Given the description of an element on the screen output the (x, y) to click on. 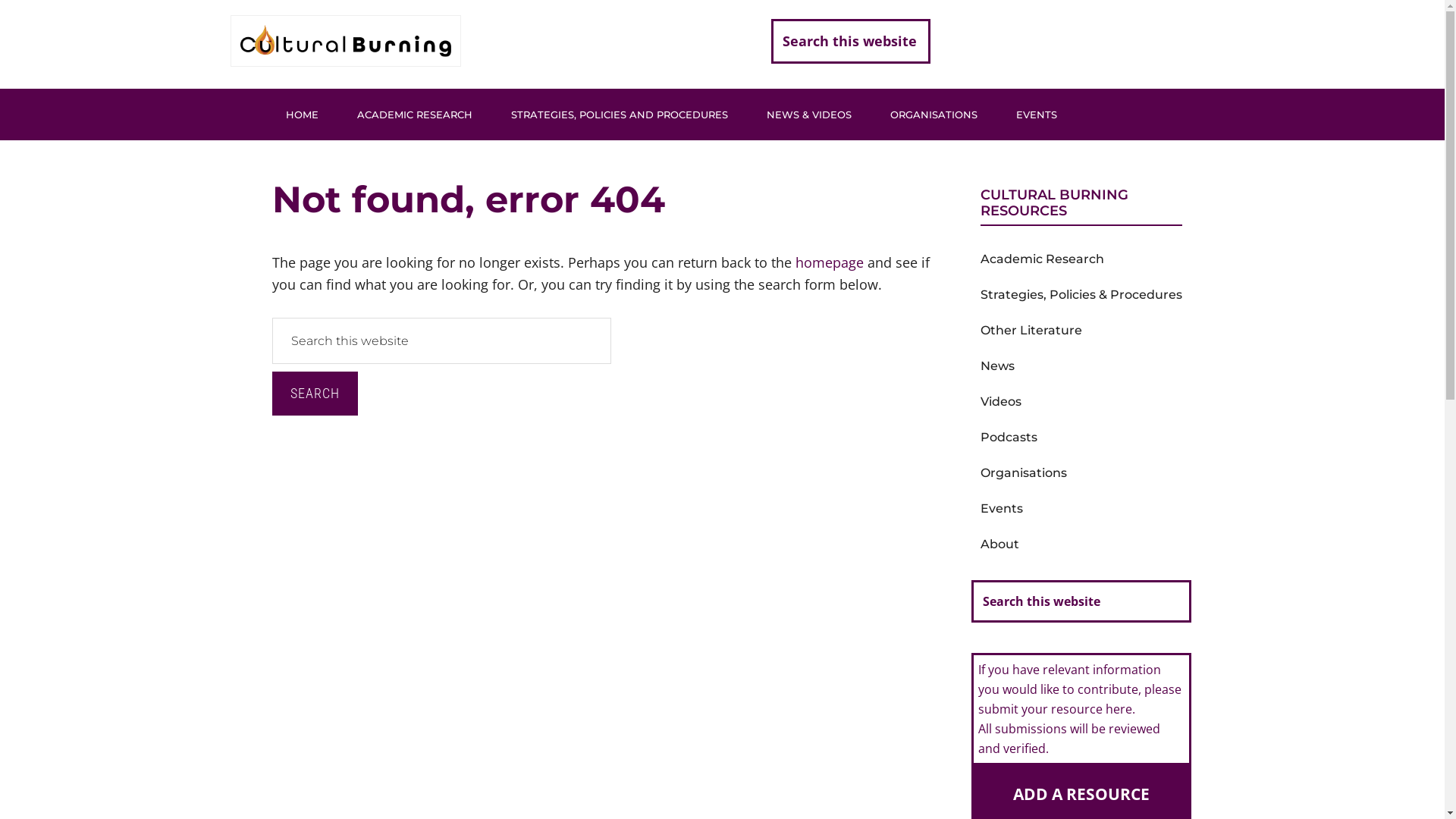
Skip to main content Element type: text (0, 0)
Search this website Element type: text (1080, 601)
Events Element type: text (1000, 508)
ACADEMIC RESEARCH Element type: text (413, 109)
ORGANISATIONS Element type: text (933, 109)
Organisations Element type: text (1022, 472)
Strategies, Policies & Procedures Element type: text (1080, 294)
About Element type: text (998, 543)
homepage Element type: text (828, 262)
STRATEGIES, POLICIES AND PROCEDURES Element type: text (619, 109)
Other Literature Element type: text (1030, 330)
News Element type: text (996, 365)
Podcasts Element type: text (1007, 436)
Search this website Element type: text (849, 40)
HOME Element type: text (301, 109)
Videos Element type: text (999, 401)
Search Element type: text (314, 393)
EVENTS Element type: text (1036, 109)
Academic Research Element type: text (1041, 258)
NEWS & VIDEOS Element type: text (807, 109)
